Given the description of an element on the screen output the (x, y) to click on. 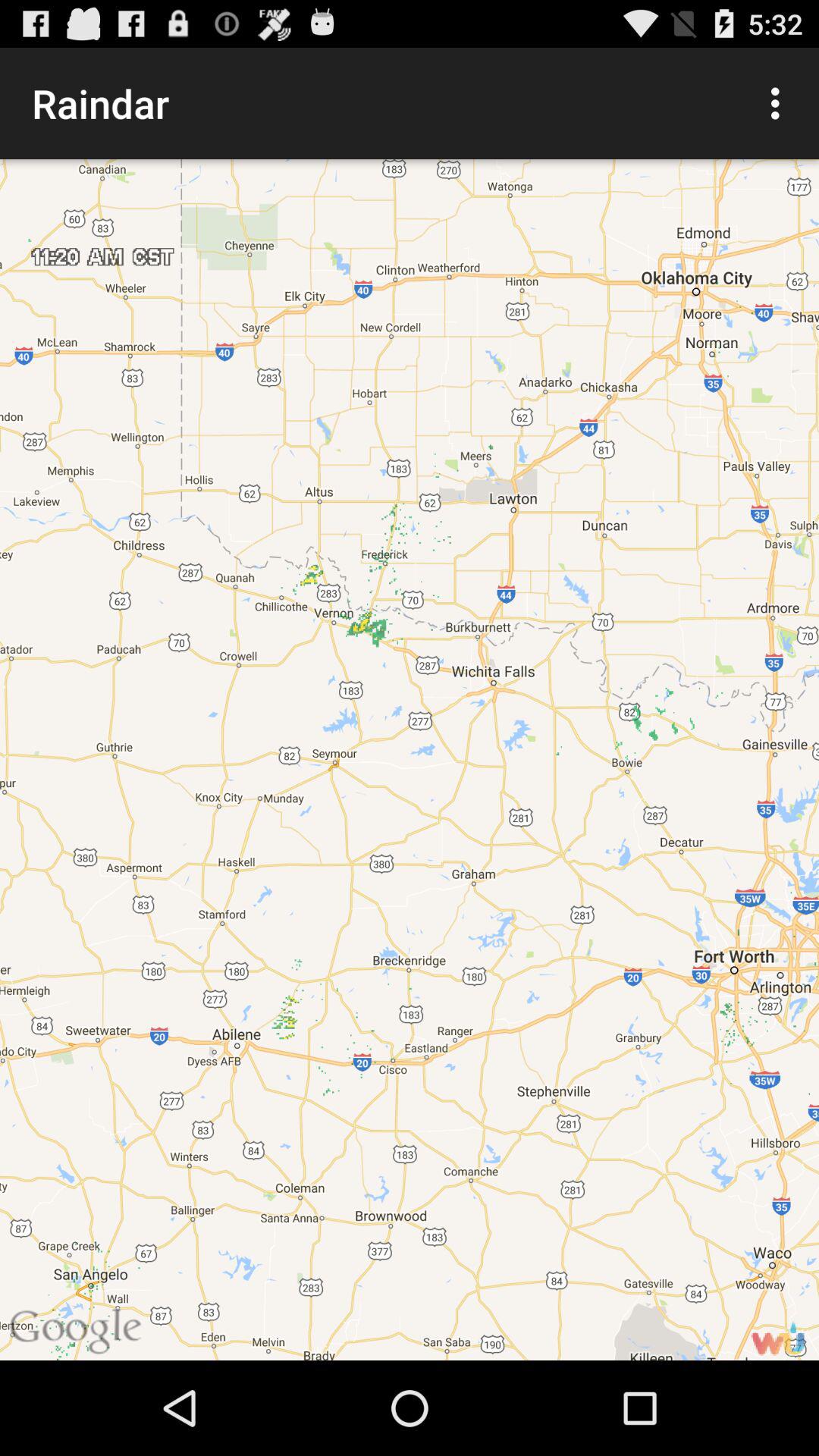
click app next to the raindar item (779, 103)
